Given the description of an element on the screen output the (x, y) to click on. 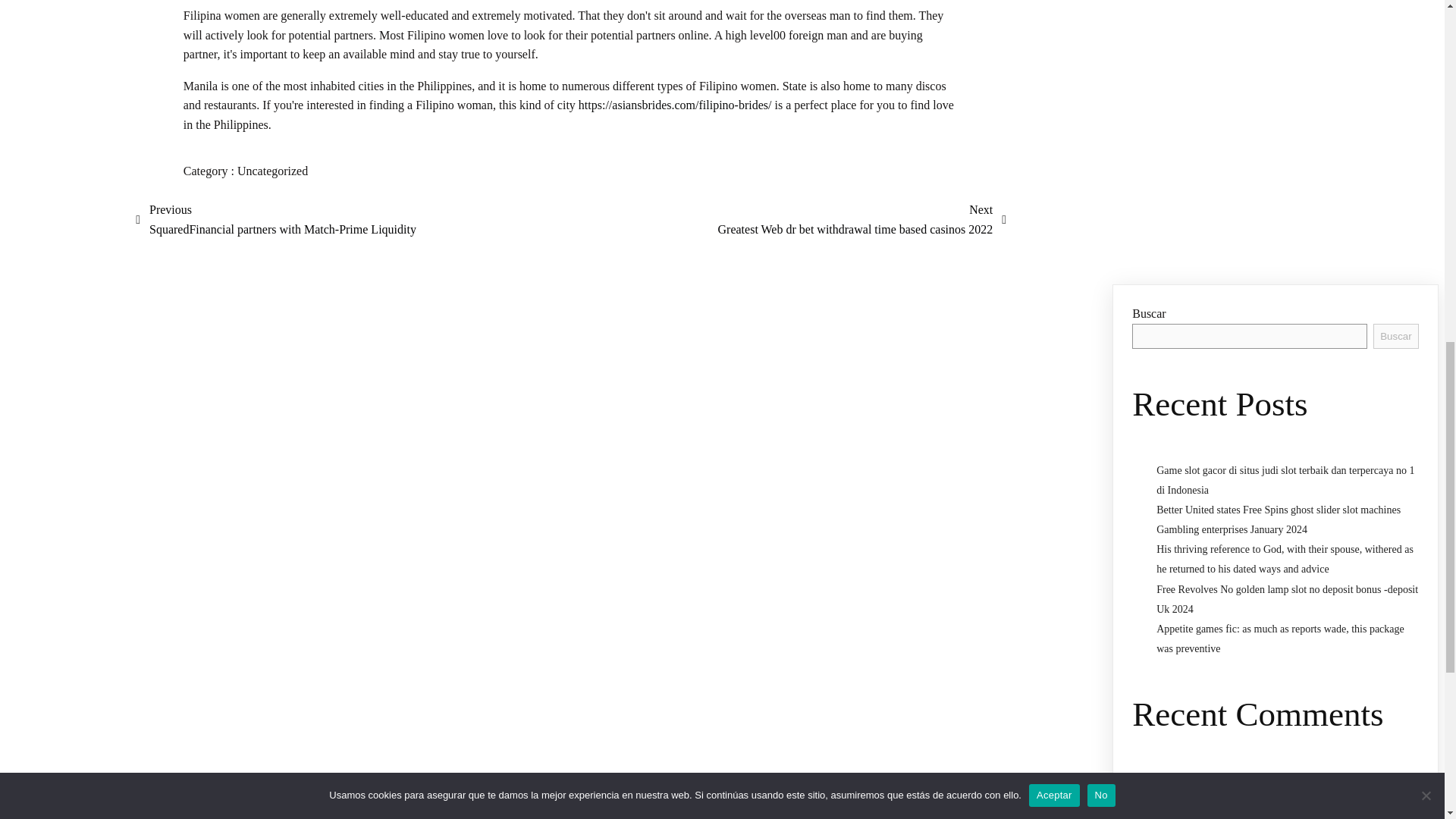
A WordPress Commenter (1240, 778)
Buscar (1395, 335)
Uncategorized (272, 170)
Hello world! (1340, 778)
